Given the description of an element on the screen output the (x, y) to click on. 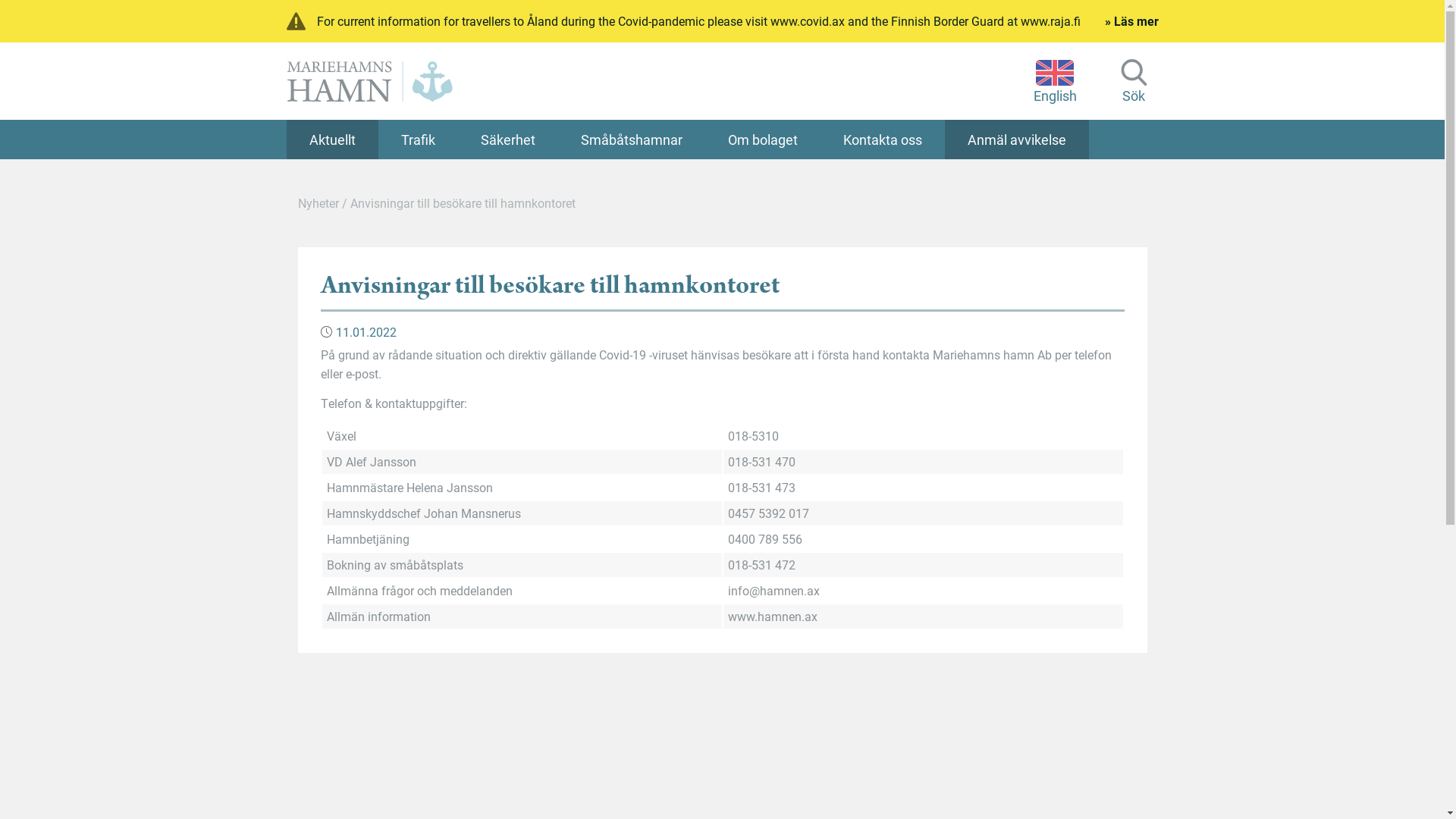
Mariehamns hamn Element type: text (369, 80)
Aktuellt Element type: text (332, 139)
Trafik Element type: text (417, 139)
Nyheter Element type: text (317, 202)
English Element type: text (1054, 79)
Om bolaget Element type: text (762, 139)
Kontakta oss Element type: text (882, 139)
